Given the description of an element on the screen output the (x, y) to click on. 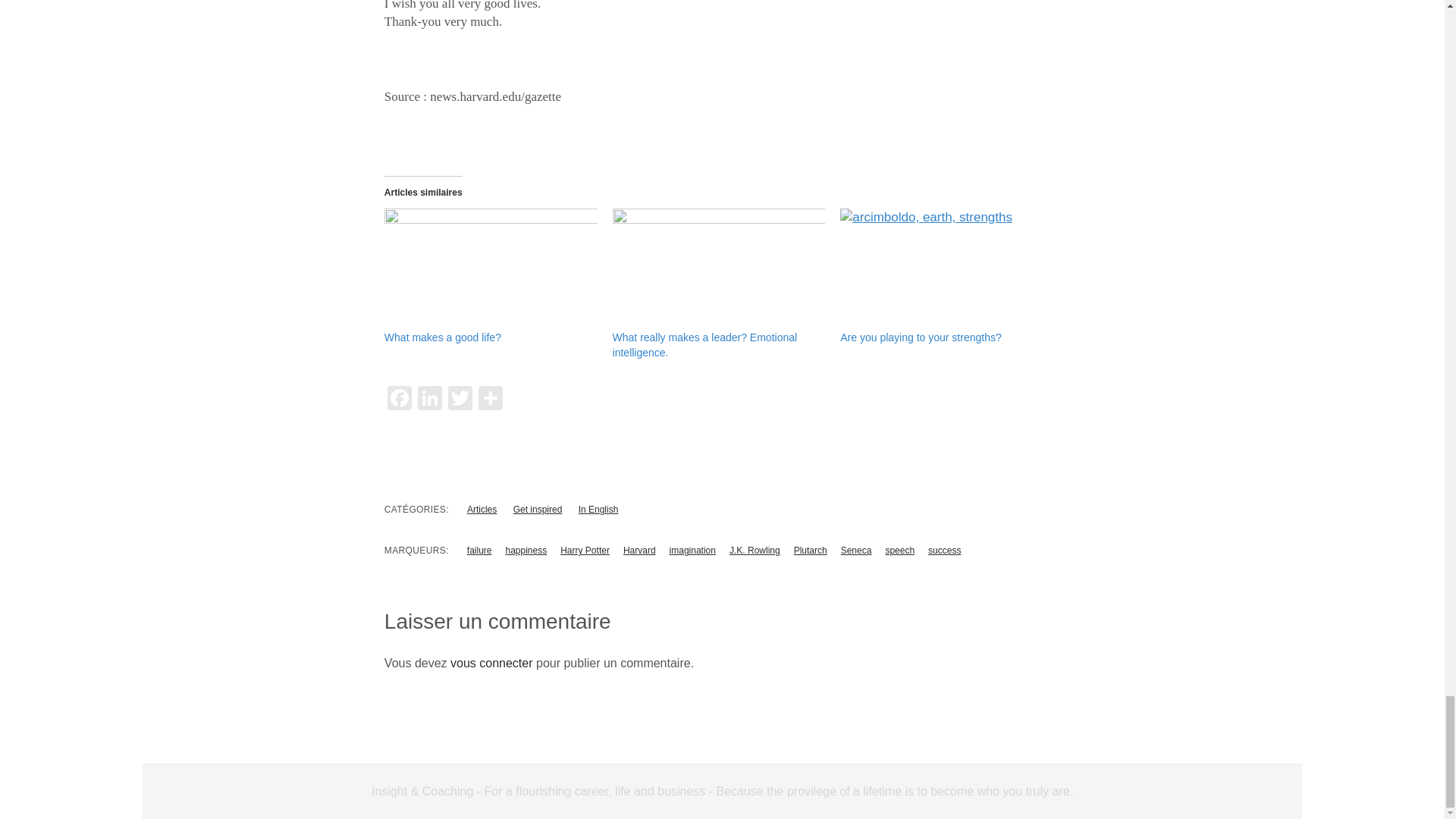
failure (479, 550)
Harvard (639, 550)
Articles (481, 509)
Voir tous les articles dans In English (598, 509)
Are you playing to your strengths? (946, 269)
What really makes a leader? Emotional intelligence. (718, 269)
Are you playing to your strengths? (920, 337)
Are you playing to your strengths? (920, 337)
What makes a good life? (490, 269)
In English (598, 509)
